Given the description of an element on the screen output the (x, y) to click on. 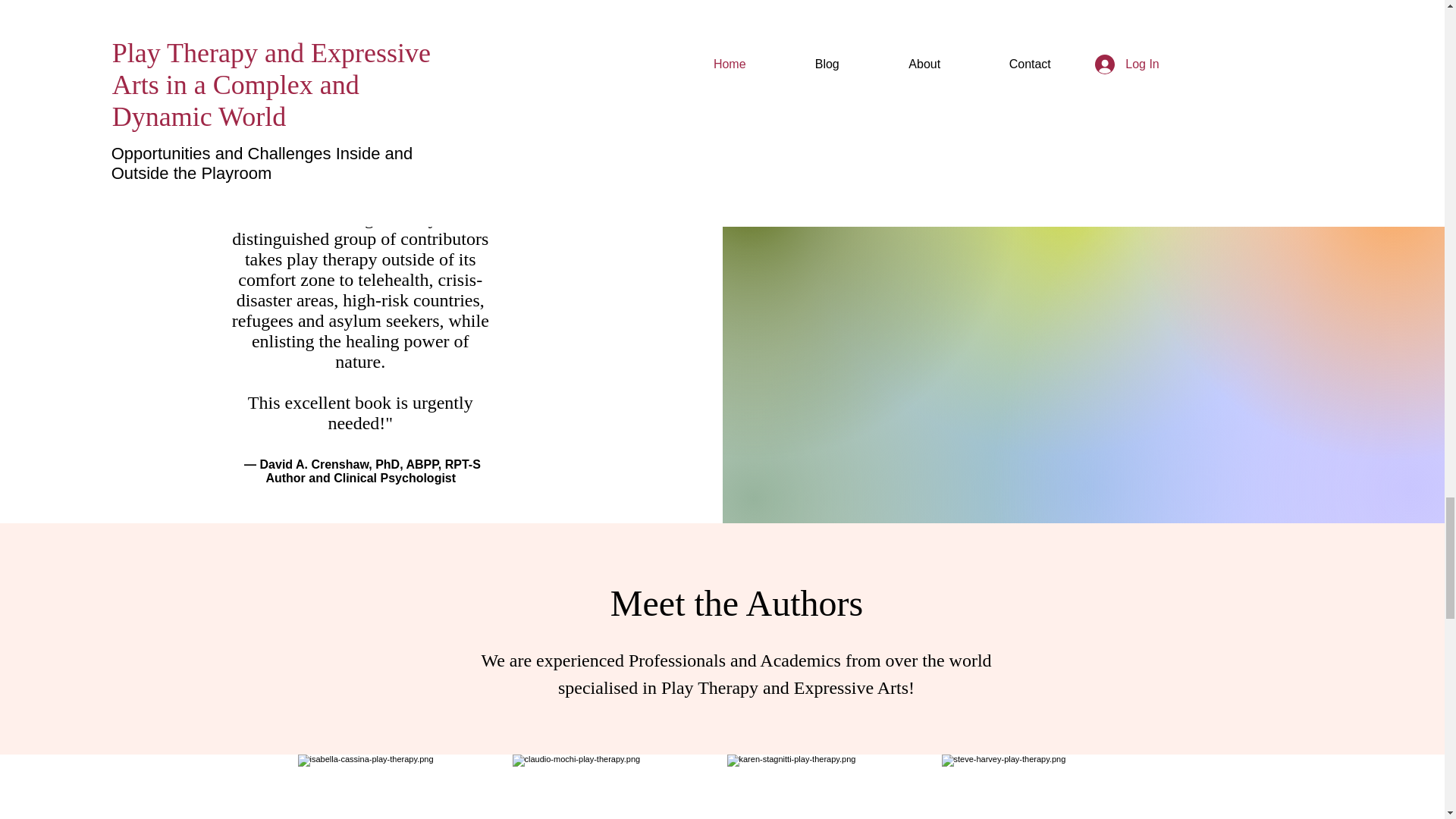
All Blog Posts (722, 98)
